Given the description of an element on the screen output the (x, y) to click on. 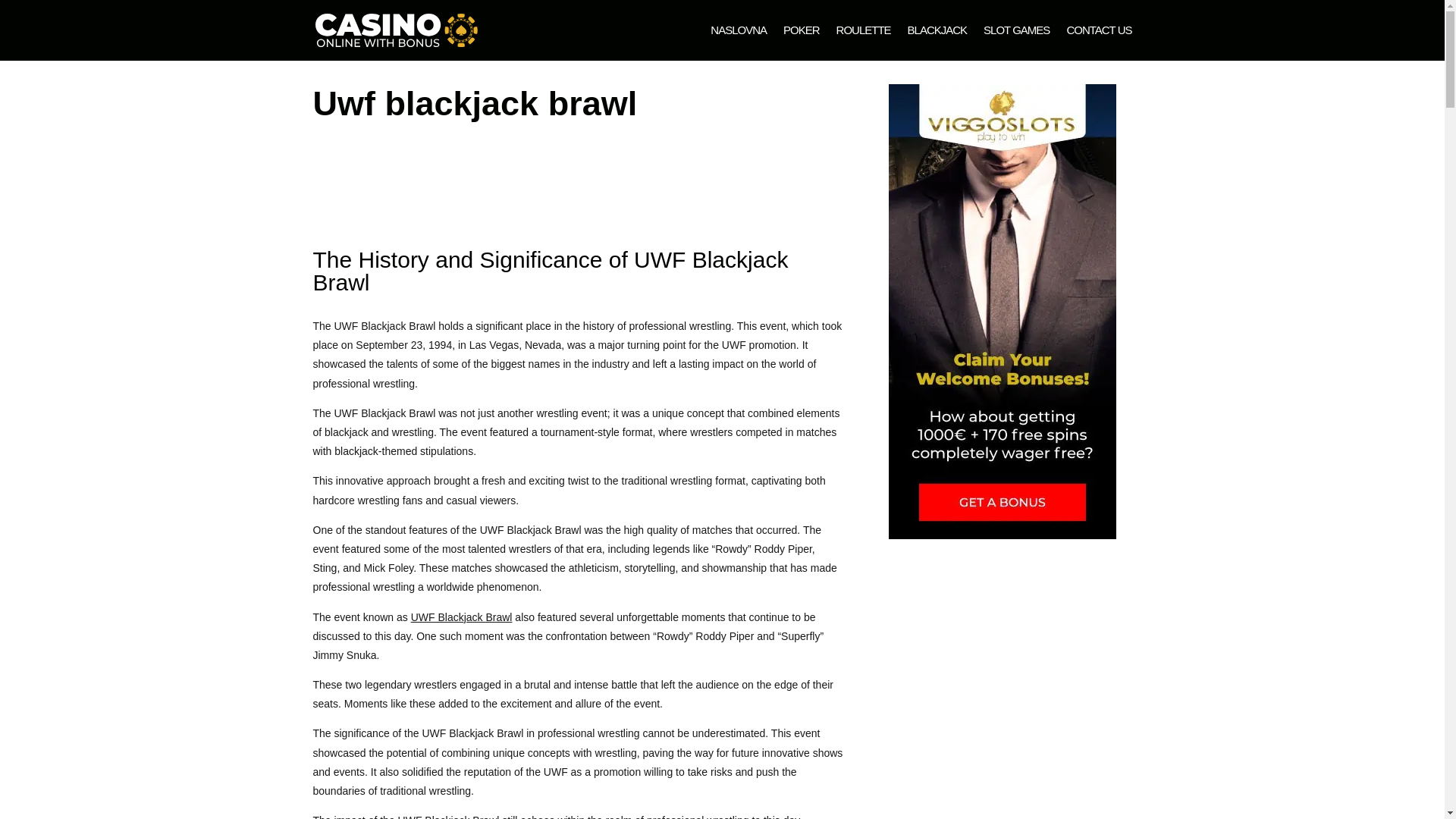
SLOT GAMES (1016, 42)
NASLOVNA (738, 42)
BLACKJACK (937, 42)
CONTACT US (1098, 42)
POKER (801, 42)
ROULETTE (863, 42)
